Given the description of an element on the screen output the (x, y) to click on. 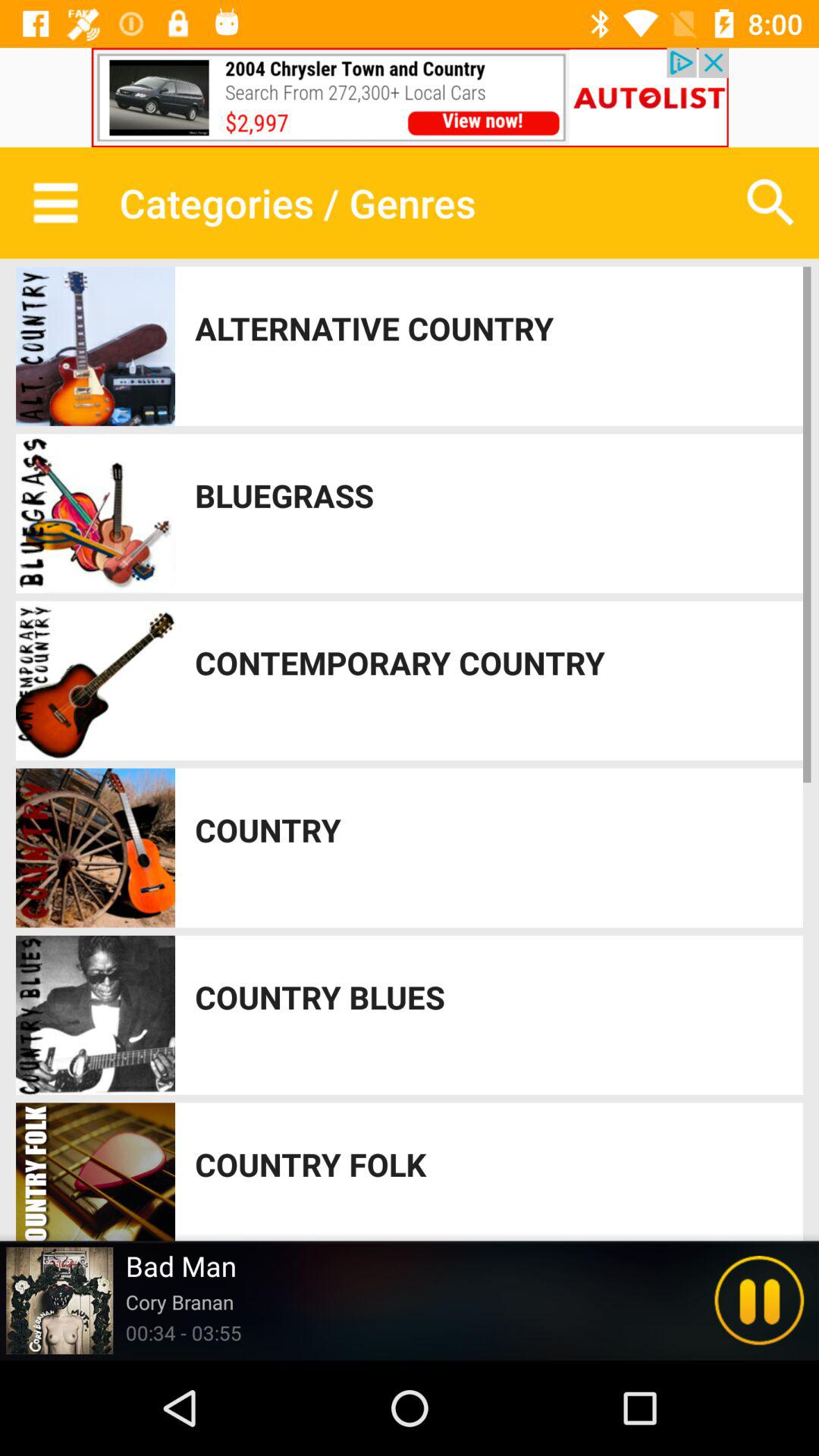
pause music (759, 1300)
